Given the description of an element on the screen output the (x, y) to click on. 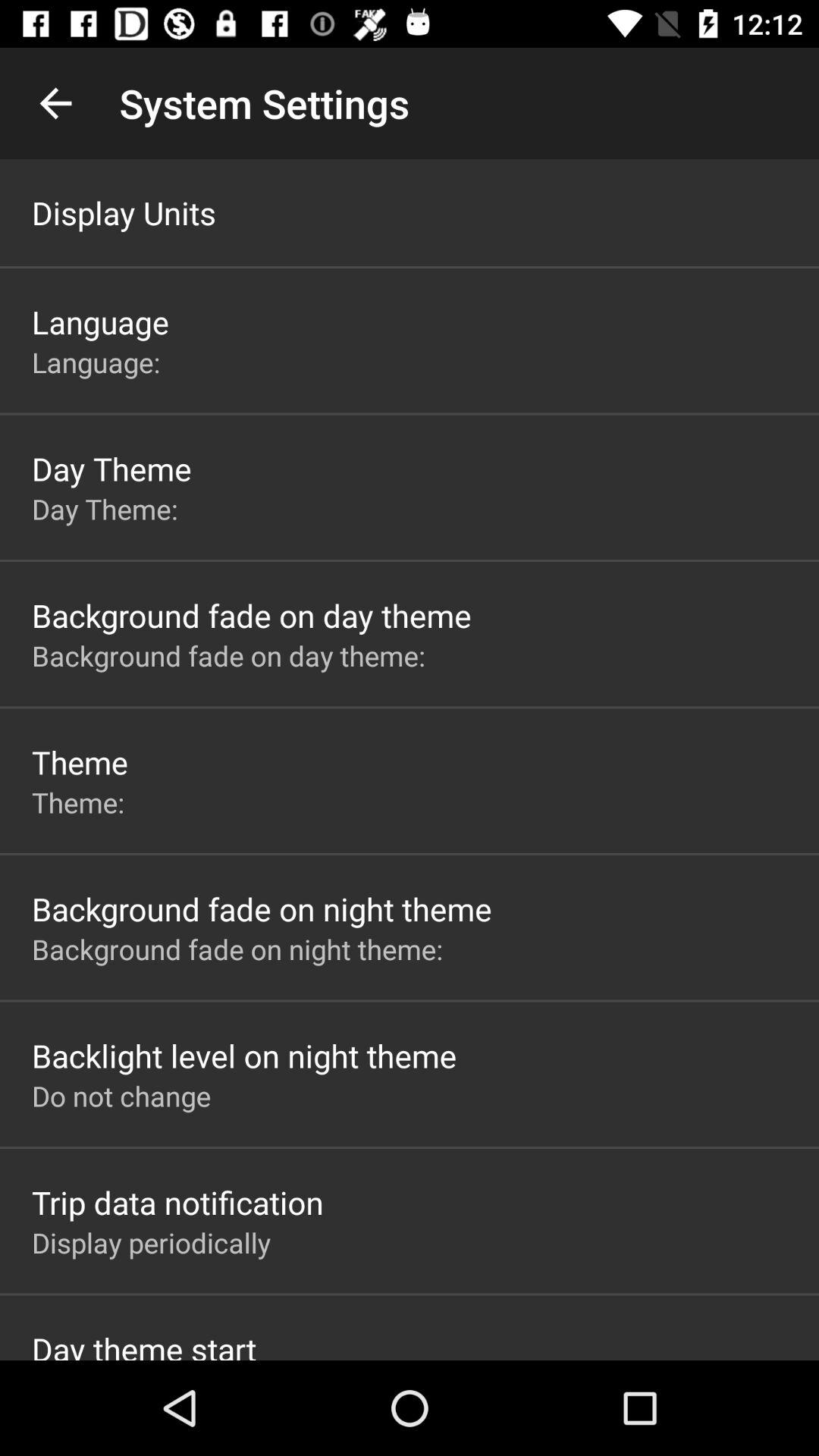
turn on the app next to the system settings icon (55, 103)
